Given the description of an element on the screen output the (x, y) to click on. 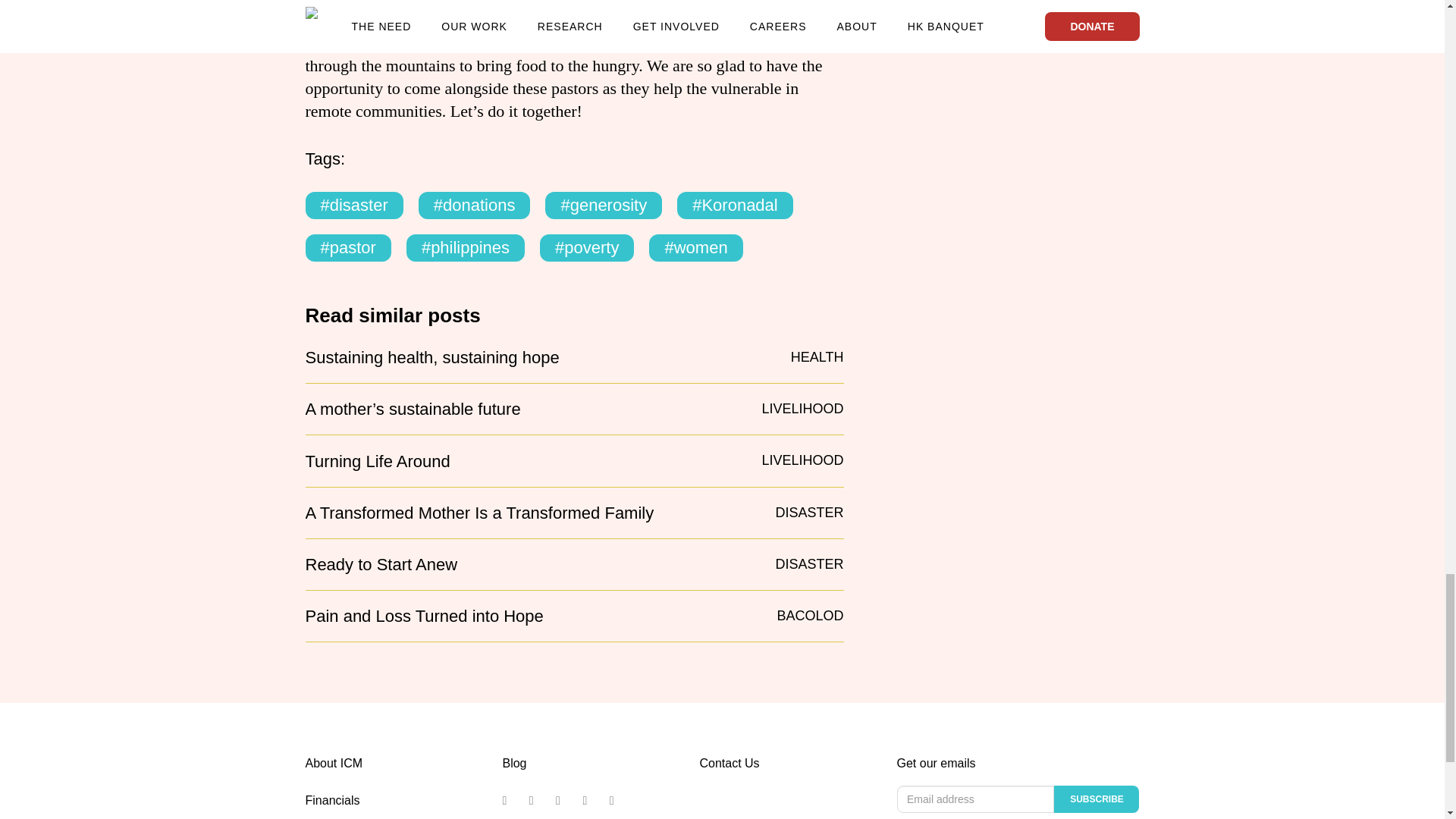
Pain and Loss Turned into Hope (423, 616)
Ready to Start Anew (380, 564)
Read more in Livelihood (802, 460)
Read more in Health (817, 356)
LIVELIHOOD (802, 408)
Read more in Bacolod (809, 615)
Sustaining health, sustaining hope (431, 357)
HEALTH (817, 356)
Turning Life Around (376, 461)
DISASTER (808, 564)
Subscribe (1096, 799)
DISASTER (808, 512)
LIVELIHOOD (802, 460)
A Transformed Mother Is a Transformed Family (478, 513)
Read more in Disaster (808, 512)
